Given the description of an element on the screen output the (x, y) to click on. 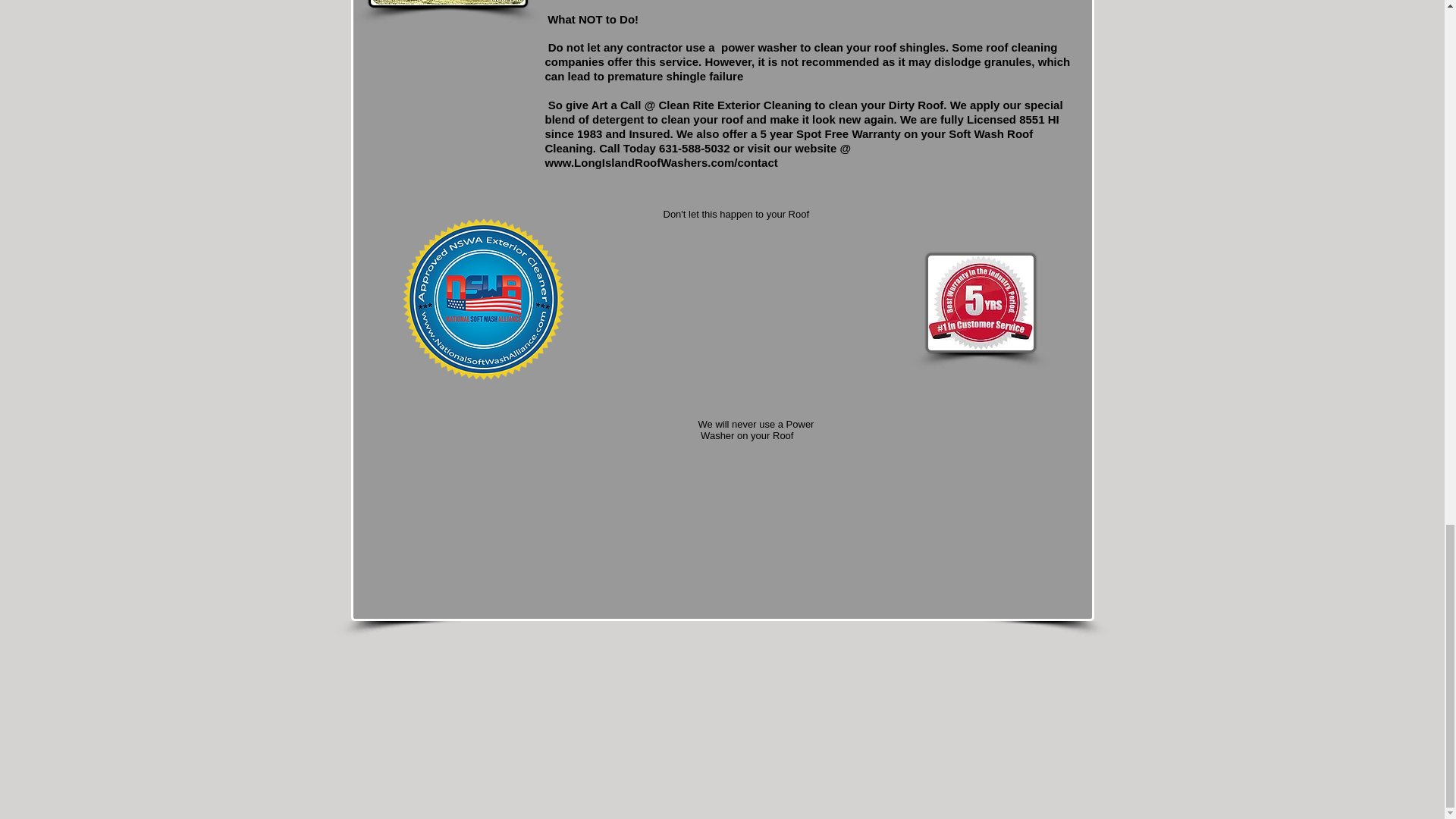
Roof Cleaning Long Island N.Y. (979, 302)
Approved Exterior Cleaners Seal (482, 303)
